Given the description of an element on the screen output the (x, y) to click on. 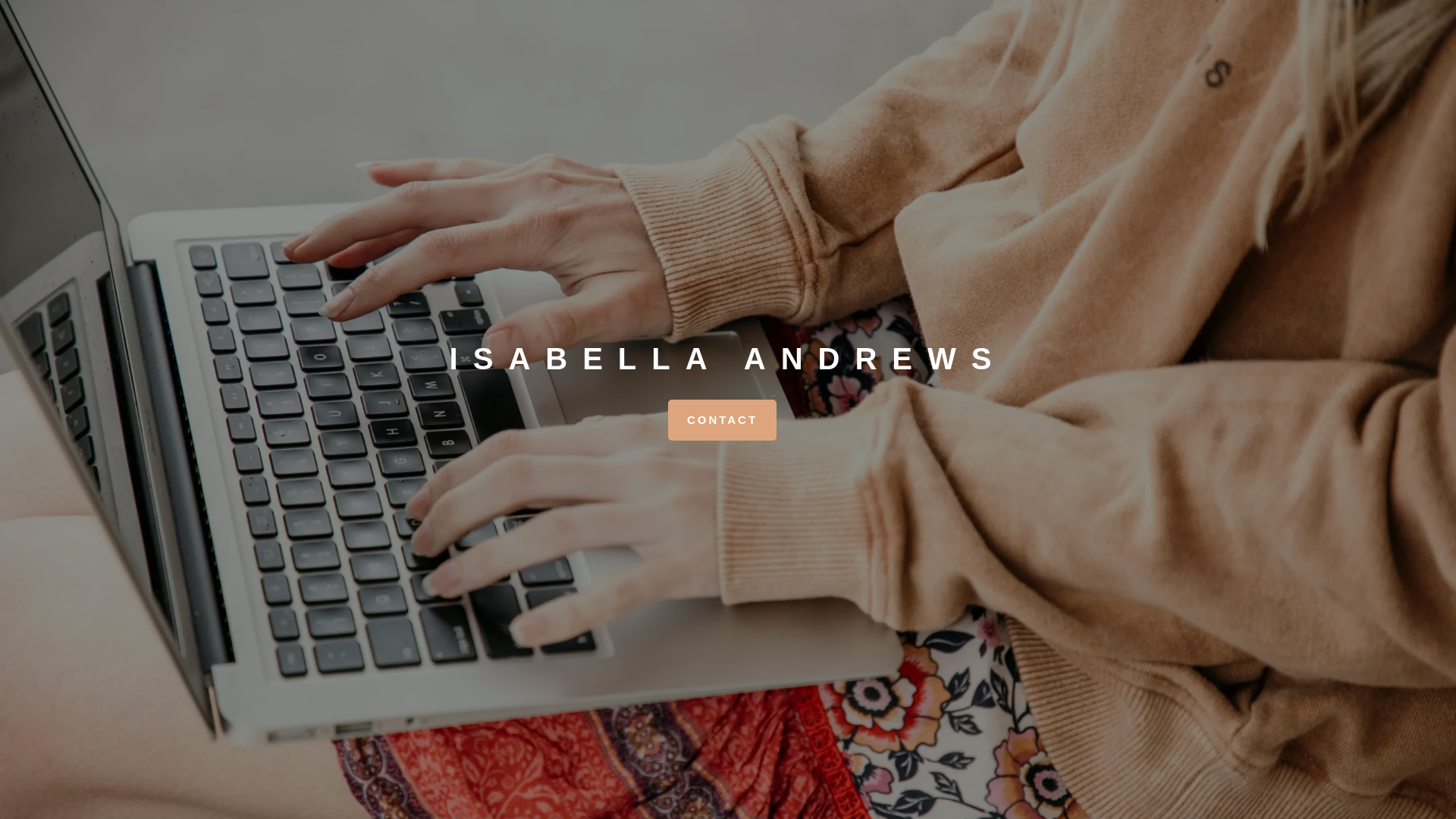
CONTACT Element type: text (722, 420)
